Given the description of an element on the screen output the (x, y) to click on. 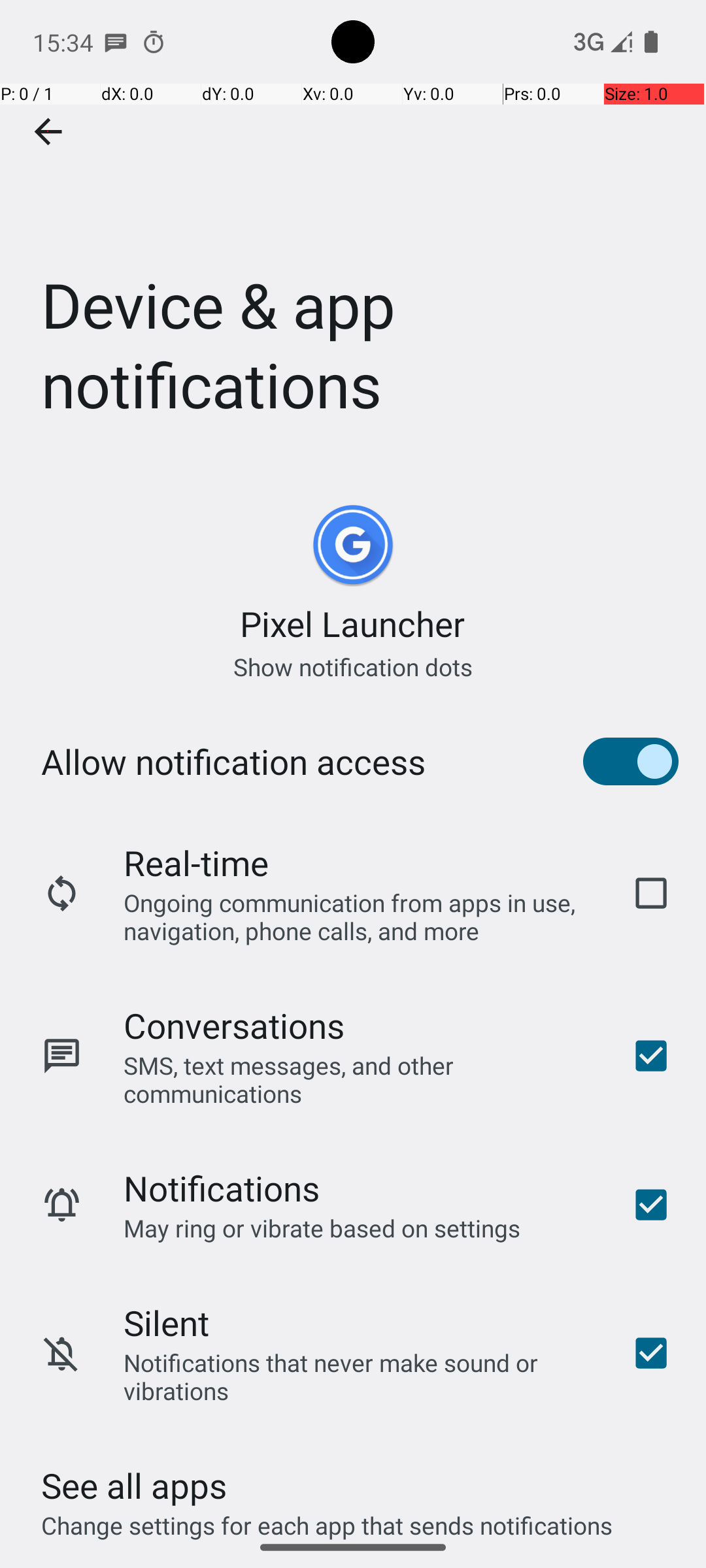
Show notification dots Element type: android.widget.TextView (352, 666)
Allow notification access Element type: android.widget.TextView (233, 761)
Real-time Element type: android.widget.TextView (195, 862)
Ongoing communication from apps in use, navigation, phone calls, and more Element type: android.widget.TextView (359, 916)
SMS, text messages, and other communications Element type: android.widget.TextView (359, 1079)
May ring or vibrate based on settings Element type: android.widget.TextView (322, 1227)
Notifications that never make sound or vibrations Element type: android.widget.TextView (359, 1376)
See all apps Element type: android.widget.TextView (133, 1485)
Change settings for each app that sends notifications Element type: android.widget.TextView (326, 1517)
